Given the description of an element on the screen output the (x, y) to click on. 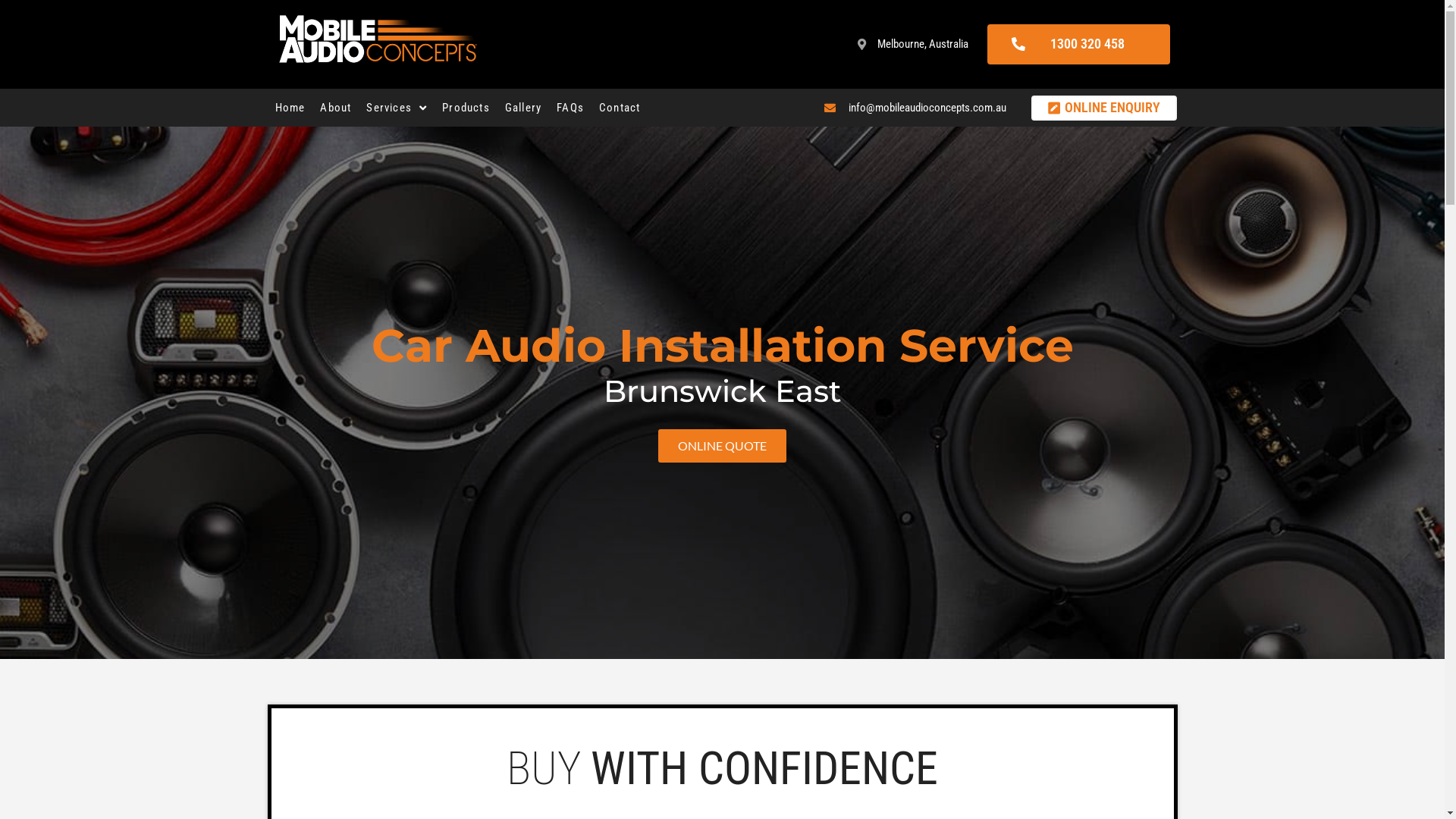
1300 320 458 Element type: text (1078, 44)
info@mobileaudioconcepts.com.au Element type: text (914, 108)
Gallery Element type: text (523, 107)
ONLINE ENQUIRY Element type: text (1103, 107)
FAQs Element type: text (570, 107)
Home Element type: text (289, 107)
About Element type: text (335, 107)
ONLINE QUOTE Element type: text (722, 445)
Services Element type: text (396, 107)
Contact Element type: text (619, 107)
Products Element type: text (465, 107)
